Given the description of an element on the screen output the (x, y) to click on. 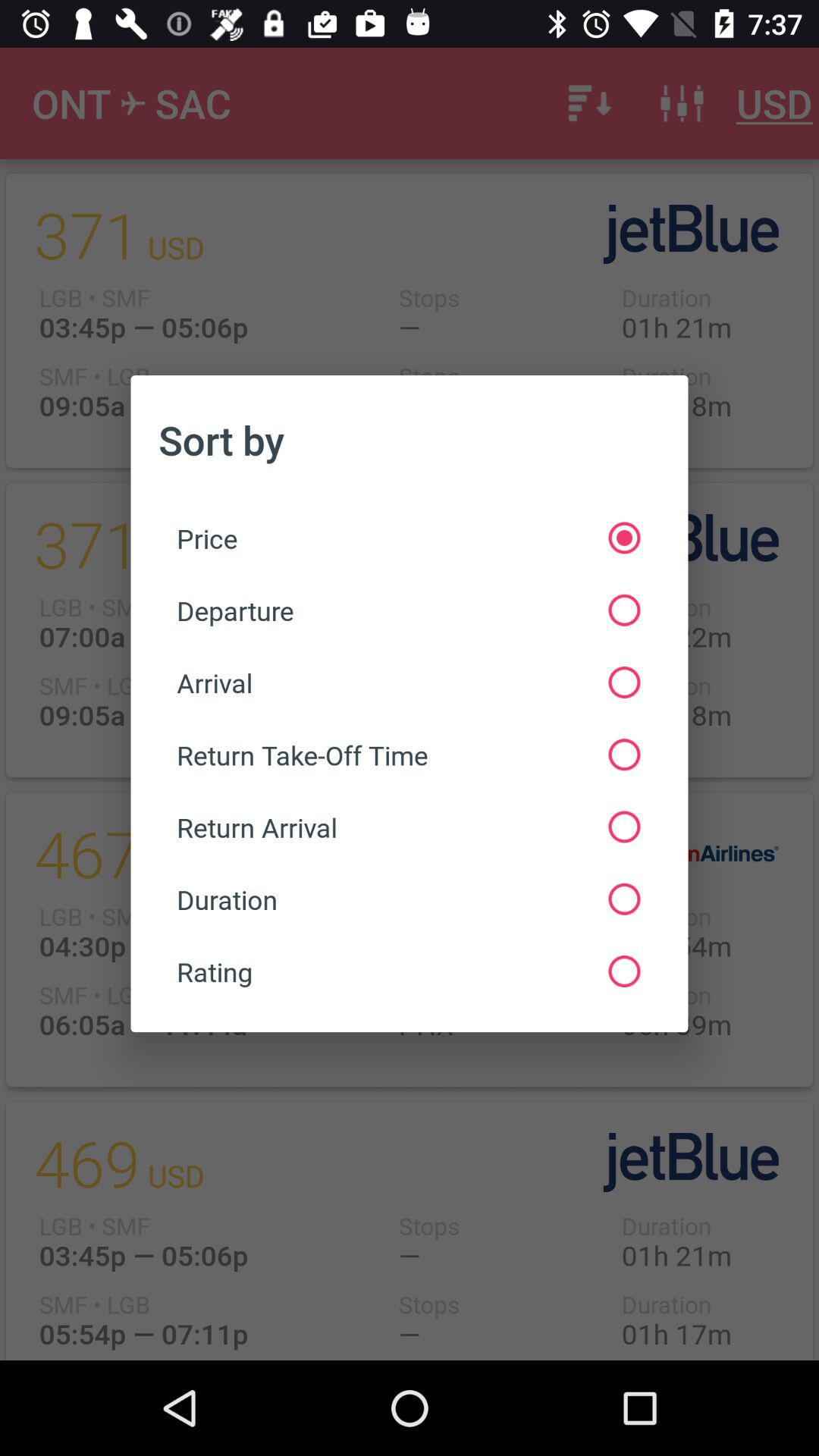
jump until duration (408, 899)
